Given the description of an element on the screen output the (x, y) to click on. 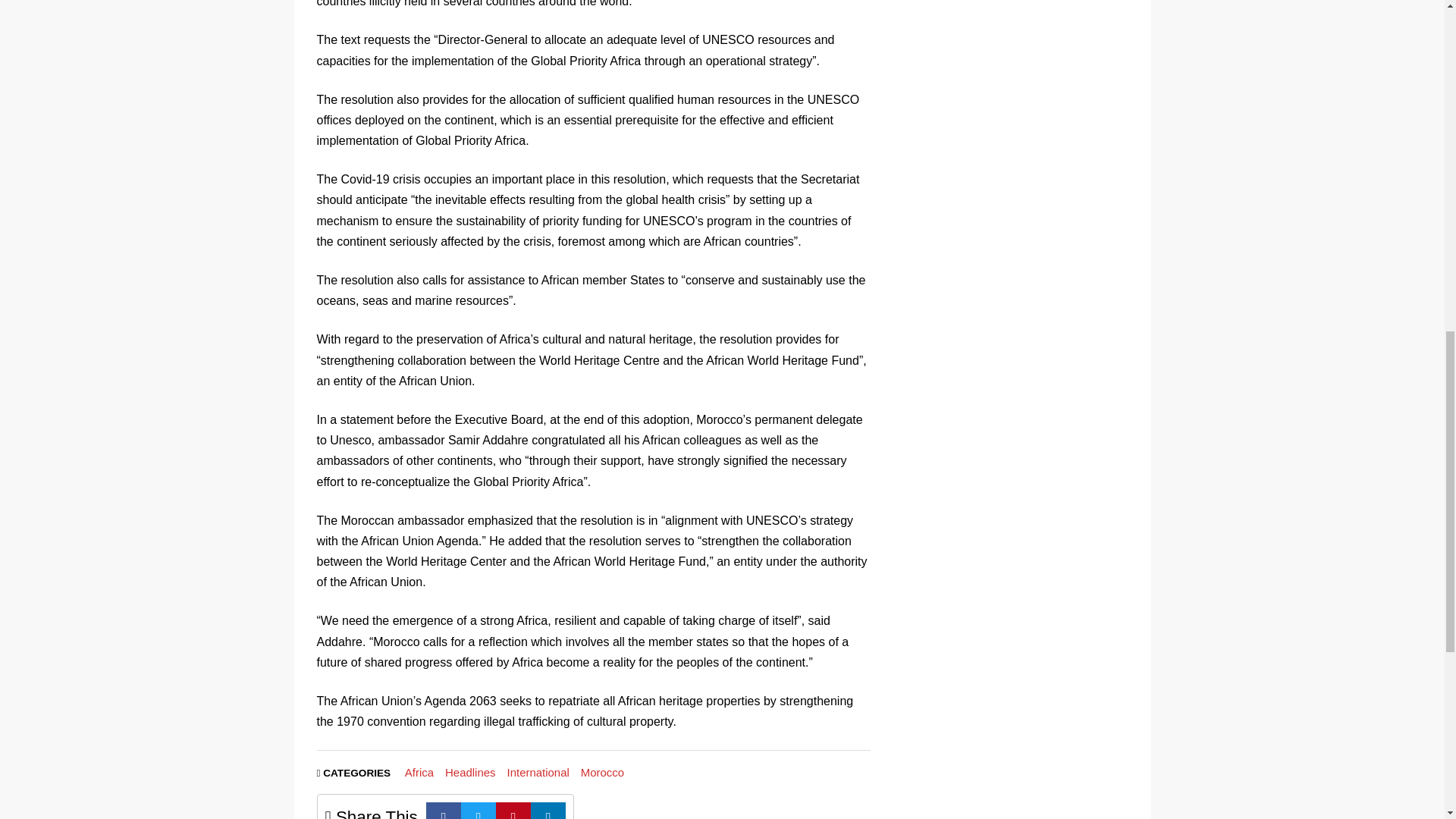
Twitter (478, 810)
Facebook (443, 810)
Pinterest (513, 810)
Linkedin (548, 810)
